Given the description of an element on the screen output the (x, y) to click on. 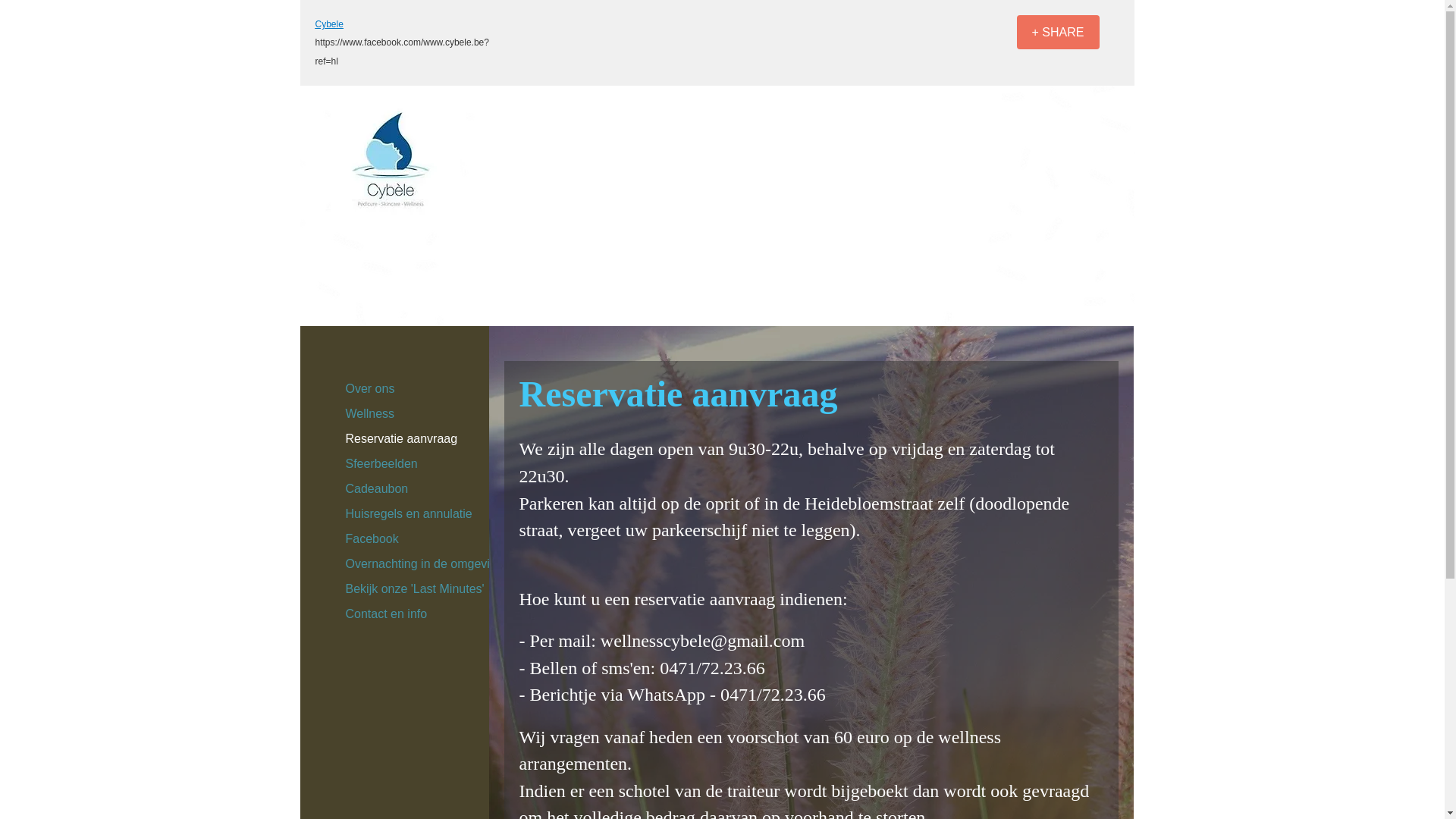
Cadeaubon Element type: text (377, 488)
Huisregels en annulatie Element type: text (409, 513)
+ SHARE Element type: text (1057, 32)
wellnesscybele@gmail.com Element type: text (702, 640)
Embedded Content Element type: hover (879, 39)
Cybele Element type: text (329, 23)
Overnachting in de omgeving Element type: text (424, 563)
Sfeerbeelden Element type: text (381, 463)
Bekijk onze 'Last Minutes' Element type: text (415, 588)
Contact en info Element type: text (386, 613)
Embedded Content Element type: hover (966, 40)
Wellness Element type: text (370, 413)
Facebook Element type: text (372, 538)
https://www.facebook.com/www.cybele.be?ref=hl Element type: text (402, 51)
Reservatie aanvraag Element type: text (401, 438)
Over ons Element type: text (370, 388)
